Given the description of an element on the screen output the (x, y) to click on. 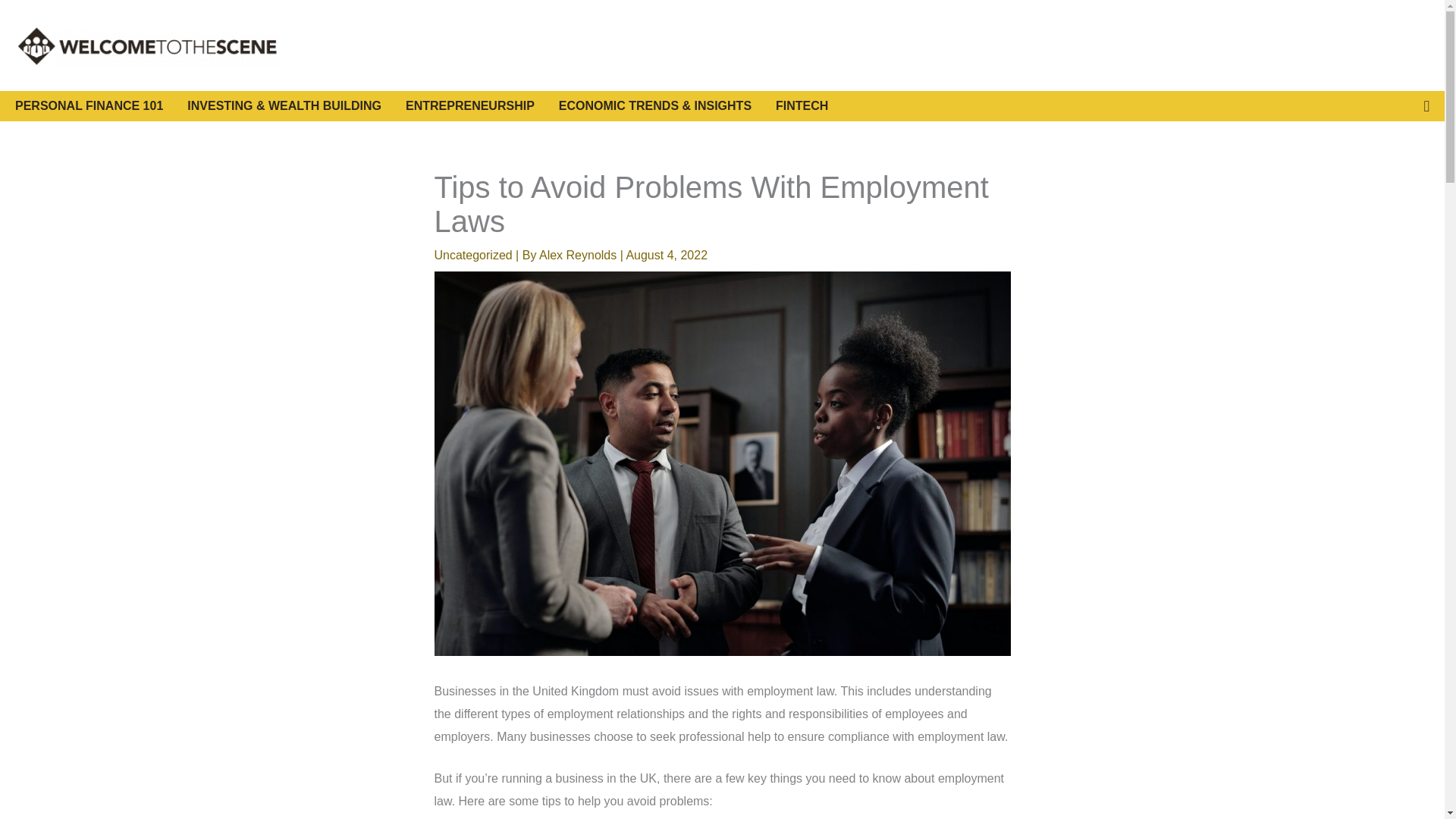
Uncategorized (472, 254)
Alex Reynolds (579, 254)
ENTREPRENEURSHIP (482, 105)
FINTECH (802, 105)
PERSONAL FINANCE 101 (100, 105)
View all posts by Alex Reynolds (579, 254)
